Given the description of an element on the screen output the (x, y) to click on. 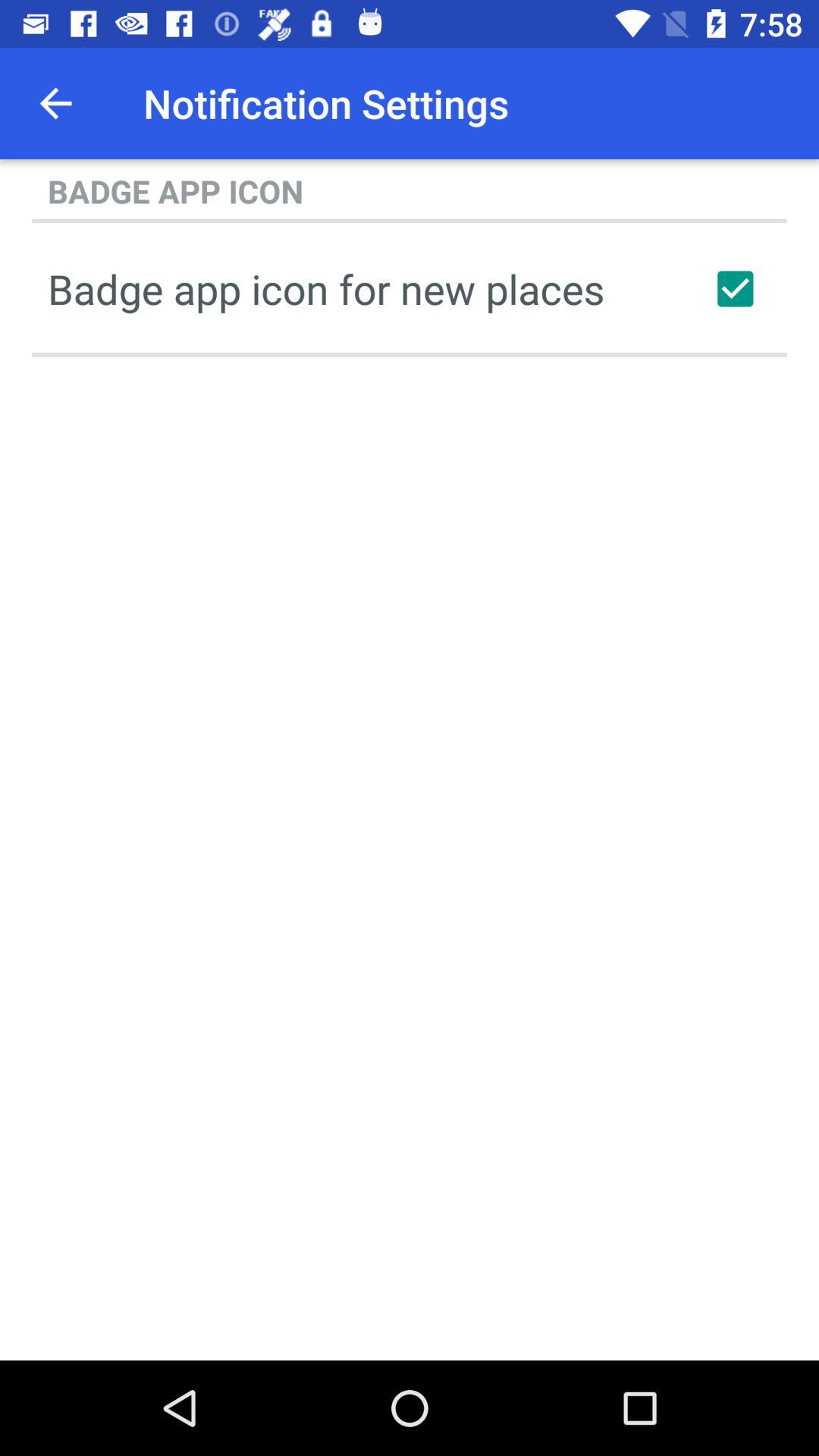
toggle app icon (735, 288)
